Given the description of an element on the screen output the (x, y) to click on. 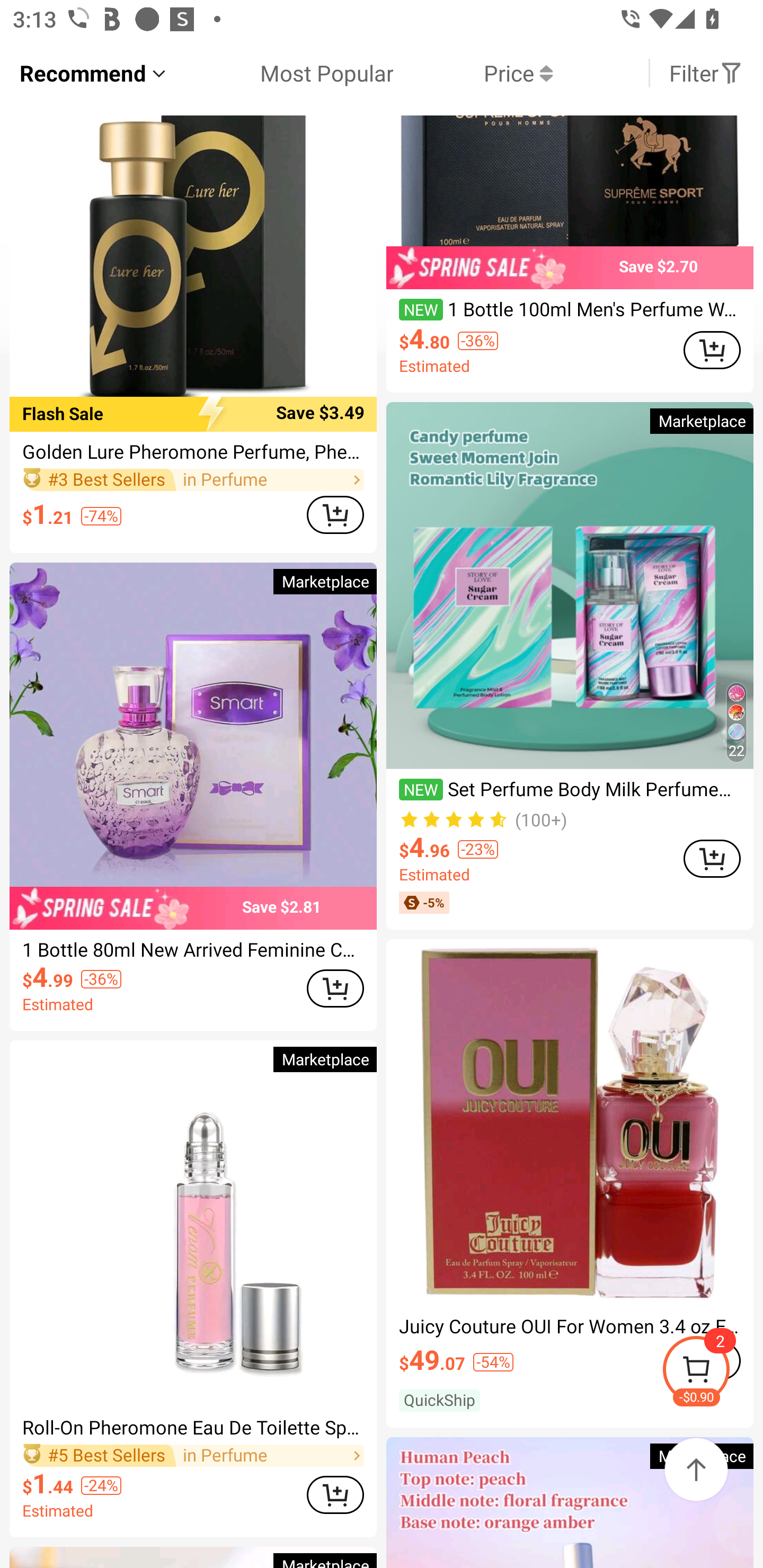
Recommend (94, 72)
Most Popular (280, 72)
Price (472, 72)
Filter (705, 72)
ADD TO CART (711, 349)
#3 Best Sellers in Perfume (192, 479)
ADD TO CART (334, 514)
ADD TO CART (711, 858)
ADD TO CART (334, 988)
-$0.90 (712, 1371)
#5 Best Sellers in Perfume (192, 1454)
Back to top (696, 1469)
ADD TO CART (334, 1494)
